Given the description of an element on the screen output the (x, y) to click on. 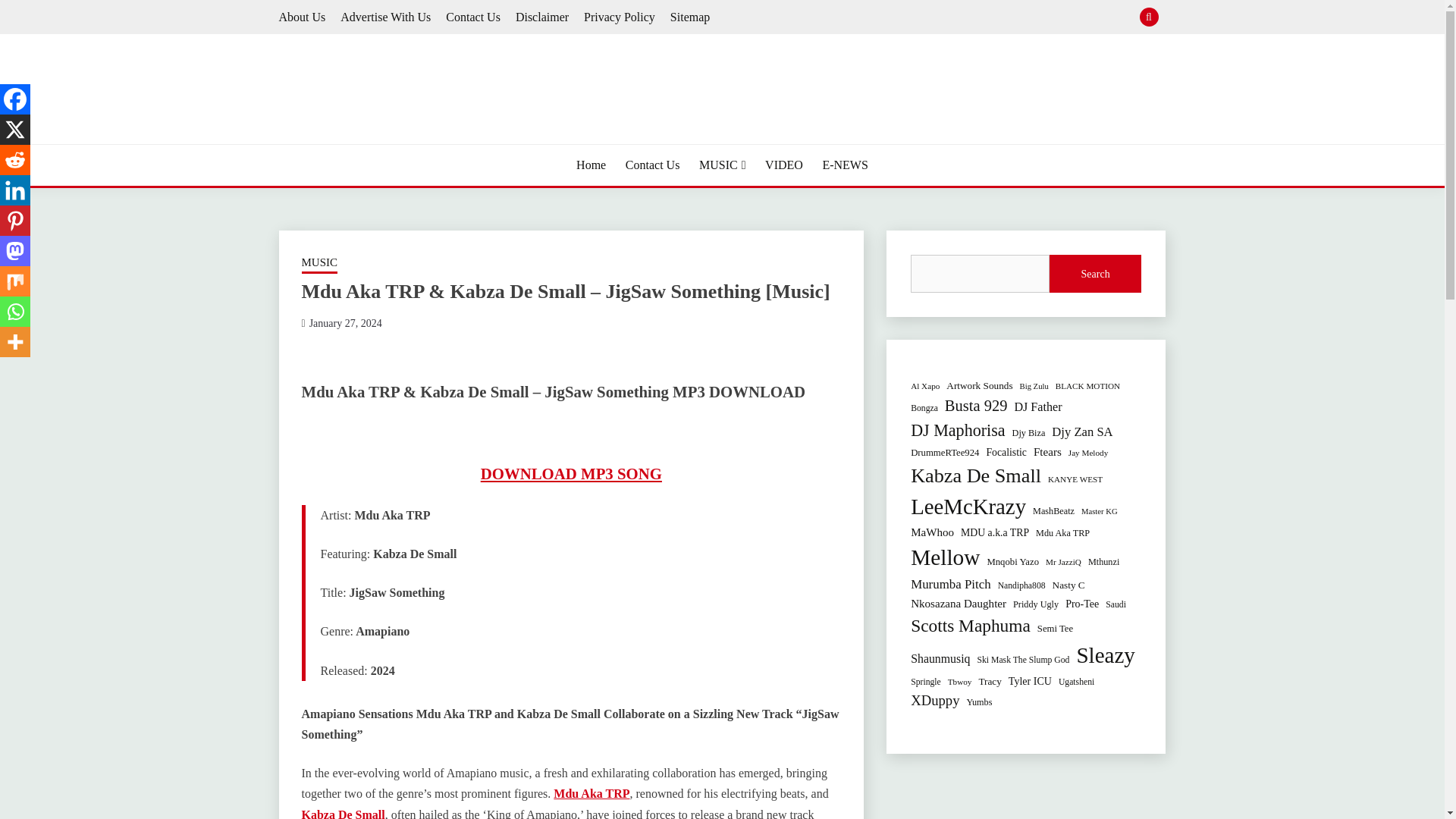
Privacy Policy (619, 16)
X (15, 129)
Linkedin (15, 190)
Contact Us (472, 16)
Facebook (15, 99)
Mdu Aka TRP (590, 793)
Advertise With Us (385, 16)
Kabza De Small (343, 813)
OKAYTUNE (355, 142)
Home (590, 165)
E-NEWS (844, 165)
MUSIC (721, 165)
Reddit (15, 159)
January 27, 2024 (344, 323)
Sitemap (689, 16)
